Given the description of an element on the screen output the (x, y) to click on. 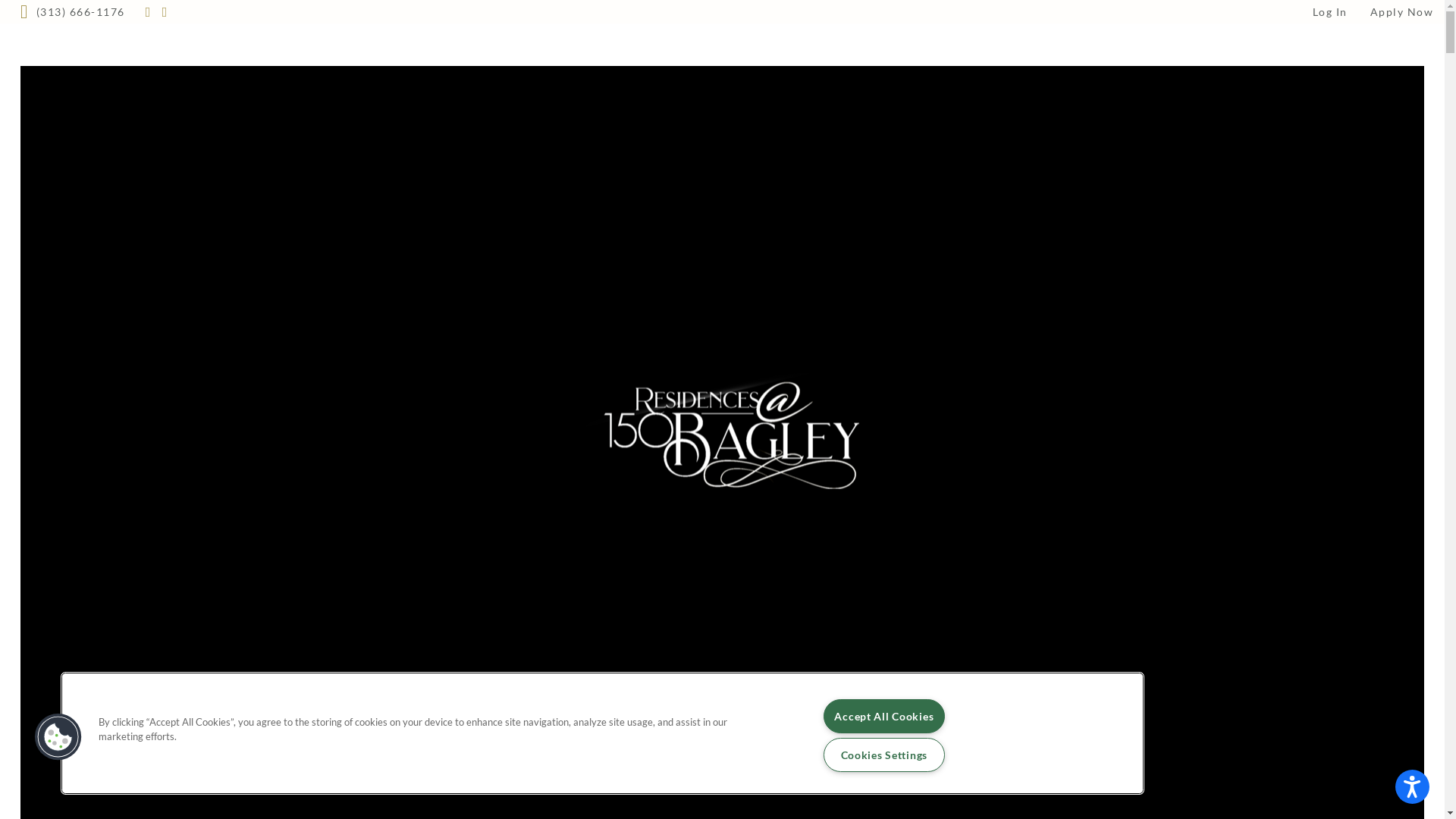
(313) 666-1176 Element type: text (72, 11)
Accept All Cookies Element type: text (883, 716)
Log In Element type: text (1329, 11)
Cookies Button Element type: text (58, 736)
Cookies Settings Element type: text (883, 754)
Apply Now Element type: text (1401, 11)
